Given the description of an element on the screen output the (x, y) to click on. 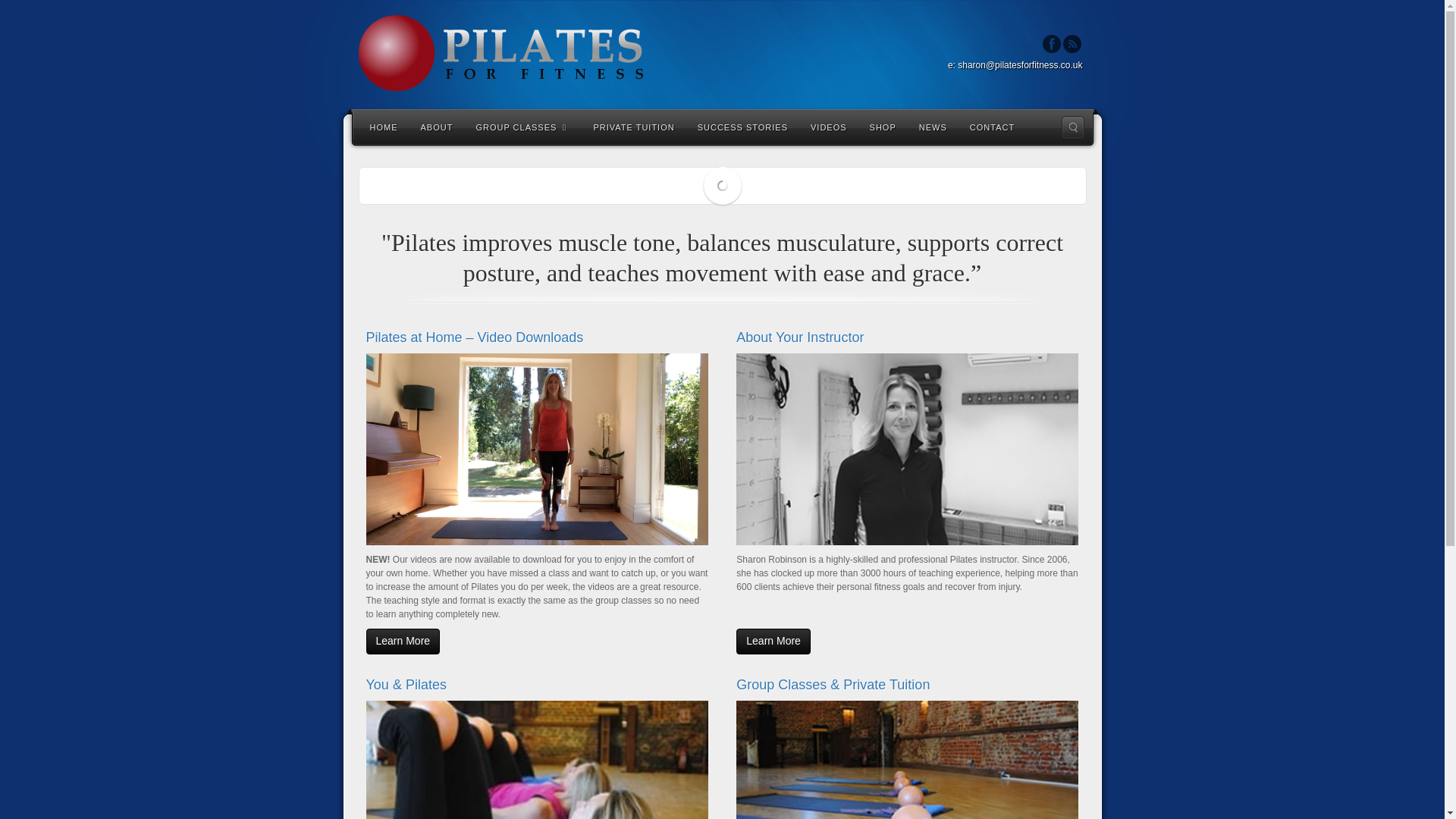
Facebook (1051, 44)
NEWS (932, 126)
Facebook (1051, 44)
Search the site... (1072, 127)
RSS (1071, 44)
Pilates For Fitness (722, 52)
About Your Instructor (799, 337)
PRIVATE TUITION (632, 126)
Learn More (773, 641)
ABOUT (436, 126)
